Given the description of an element on the screen output the (x, y) to click on. 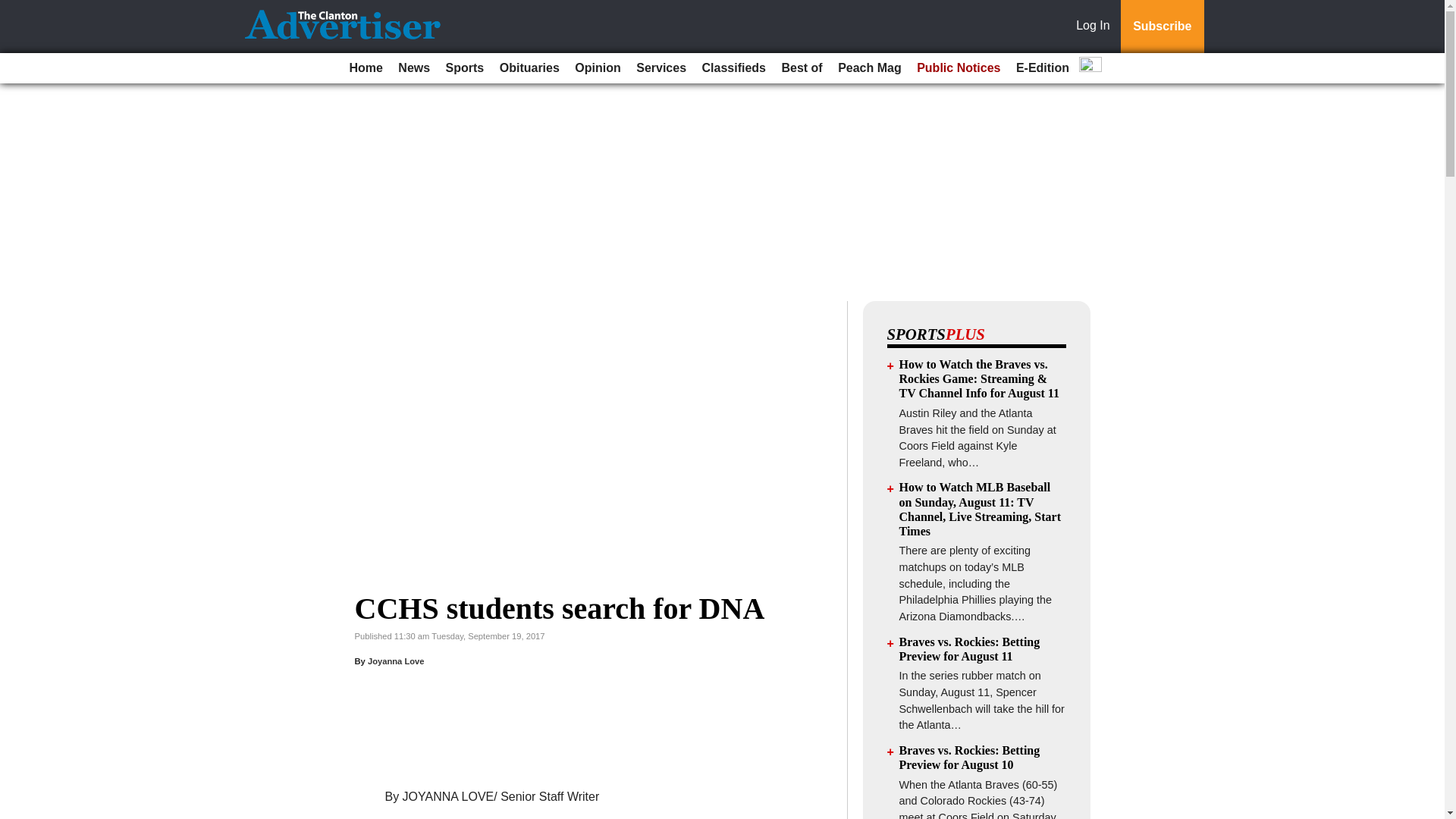
Log In (1095, 26)
Joyanna Love (396, 660)
Obituaries (529, 68)
Opinion (597, 68)
Braves vs. Rockies: Betting Preview for August 11 (970, 648)
Best of (801, 68)
Peach Mag (869, 68)
Classifieds (733, 68)
E-Edition (1042, 68)
